Given the description of an element on the screen output the (x, y) to click on. 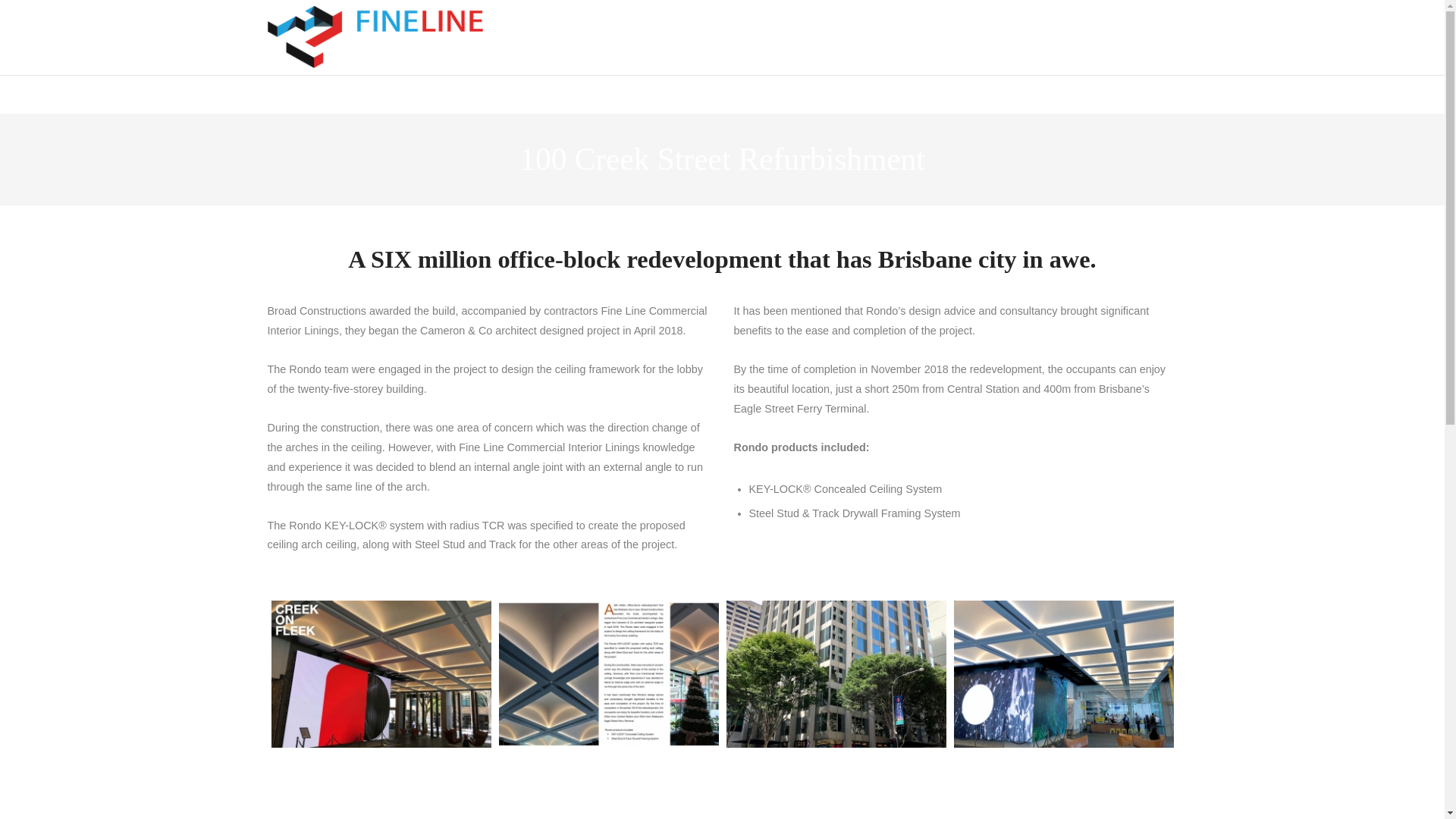
100 Creek Street Refurbishment (836, 787)
100 Creek Street Refurbishment (836, 673)
100 Creek Street Refurbishment (609, 787)
creek2 (381, 673)
creek (609, 673)
100 Creek Street Refurbishment (381, 787)
100 Creek Street Refurbishment (1063, 673)
PROJECTS (654, 37)
